Given the description of an element on the screen output the (x, y) to click on. 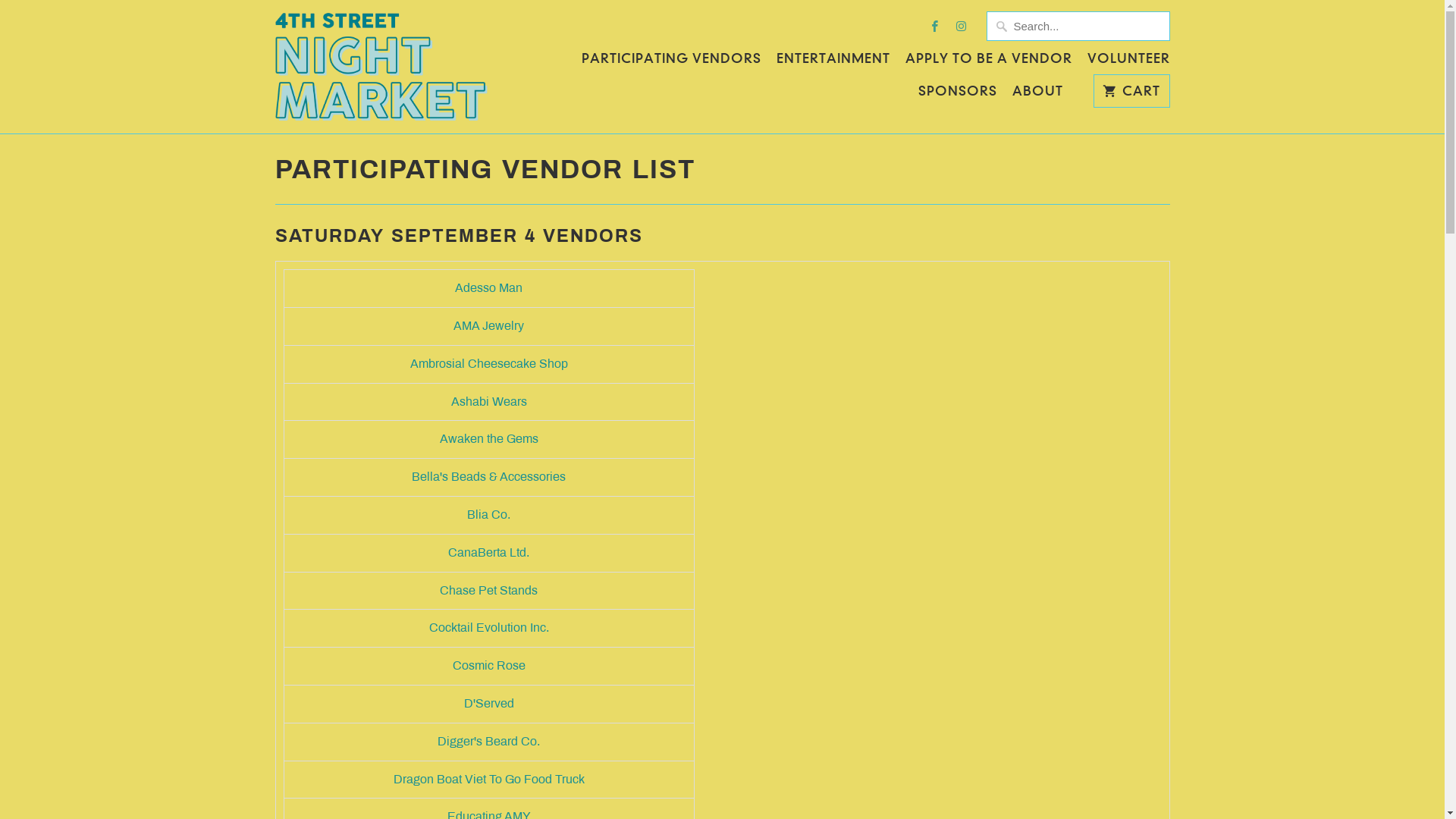
ENTERTAINMENT Element type: text (833, 62)
ABOUT Element type: text (1037, 94)
4th Street Night Market on Instagram Element type: hover (961, 25)
Awaken the Gems Element type: text (488, 438)
Dragon Boat Viet To Go Food Truck Element type: text (487, 778)
4th Street Night Market on Facebook Element type: hover (934, 25)
Bella's Beads & Accessories Element type: text (488, 476)
Ambrosial Cheesecake Shop Element type: text (488, 363)
Adesso Man Element type: text (488, 287)
VOLUNTEER Element type: text (1128, 62)
Ashabi Wears Element type: text (488, 401)
Cocktail Evolution Inc. Element type: text (489, 627)
PARTICIPATING VENDORS Element type: text (670, 62)
4th Street Night Market Element type: hover (380, 66)
Chase Pet Stands Element type: text (488, 589)
SPONSORS Element type: text (957, 94)
CART Element type: text (1131, 90)
Cosmic Rose Element type: text (487, 664)
CanaBerta Ltd. Element type: text (488, 552)
D'Served Element type: text (489, 702)
APPLY TO BE A VENDOR Element type: text (988, 62)
Blia Co. Element type: text (488, 514)
AMA Jewelry Element type: text (488, 325)
Digger's Beard Co. Element type: text (488, 740)
